Given the description of an element on the screen output the (x, y) to click on. 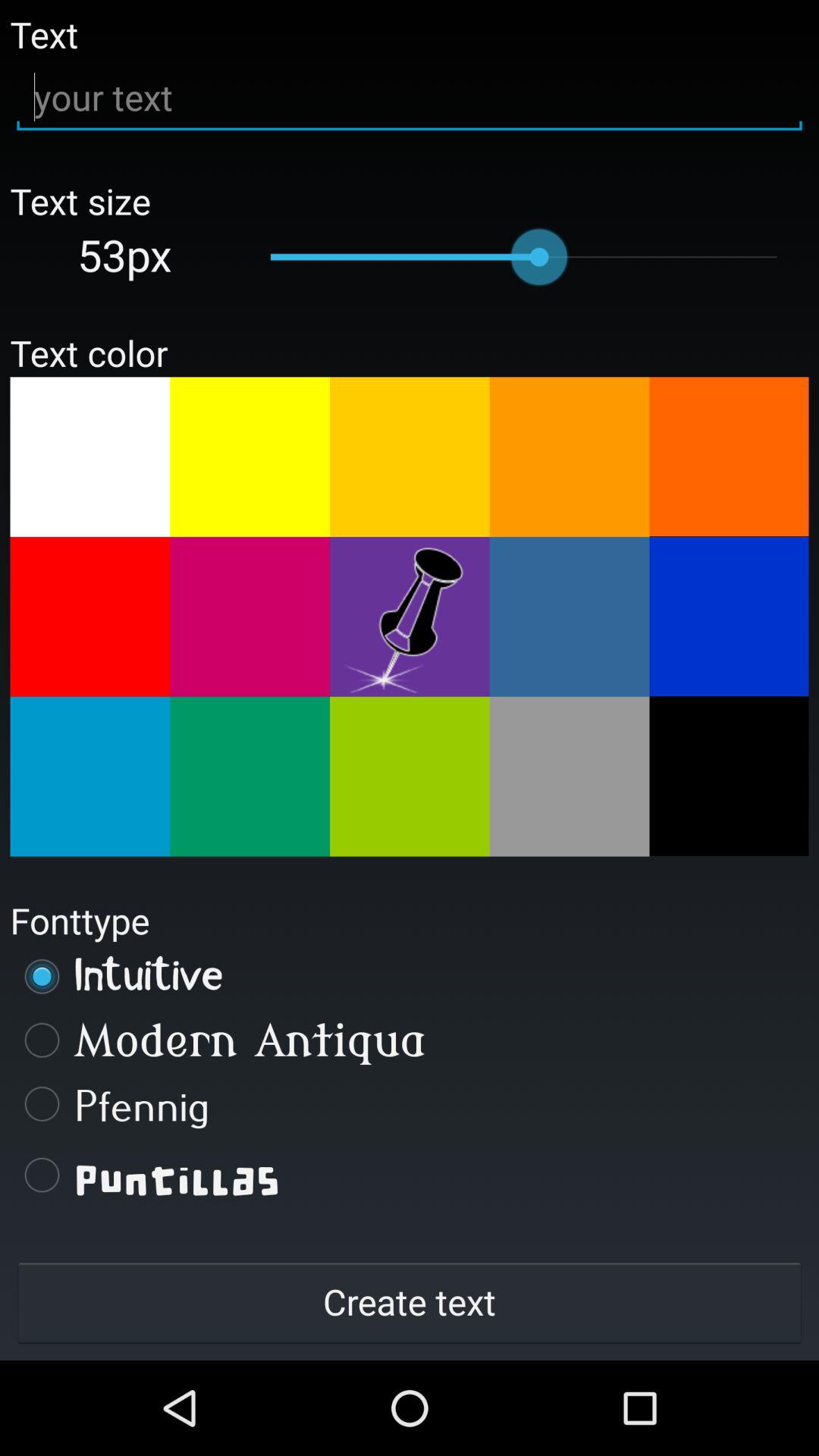
pick color (249, 456)
